Given the description of an element on the screen output the (x, y) to click on. 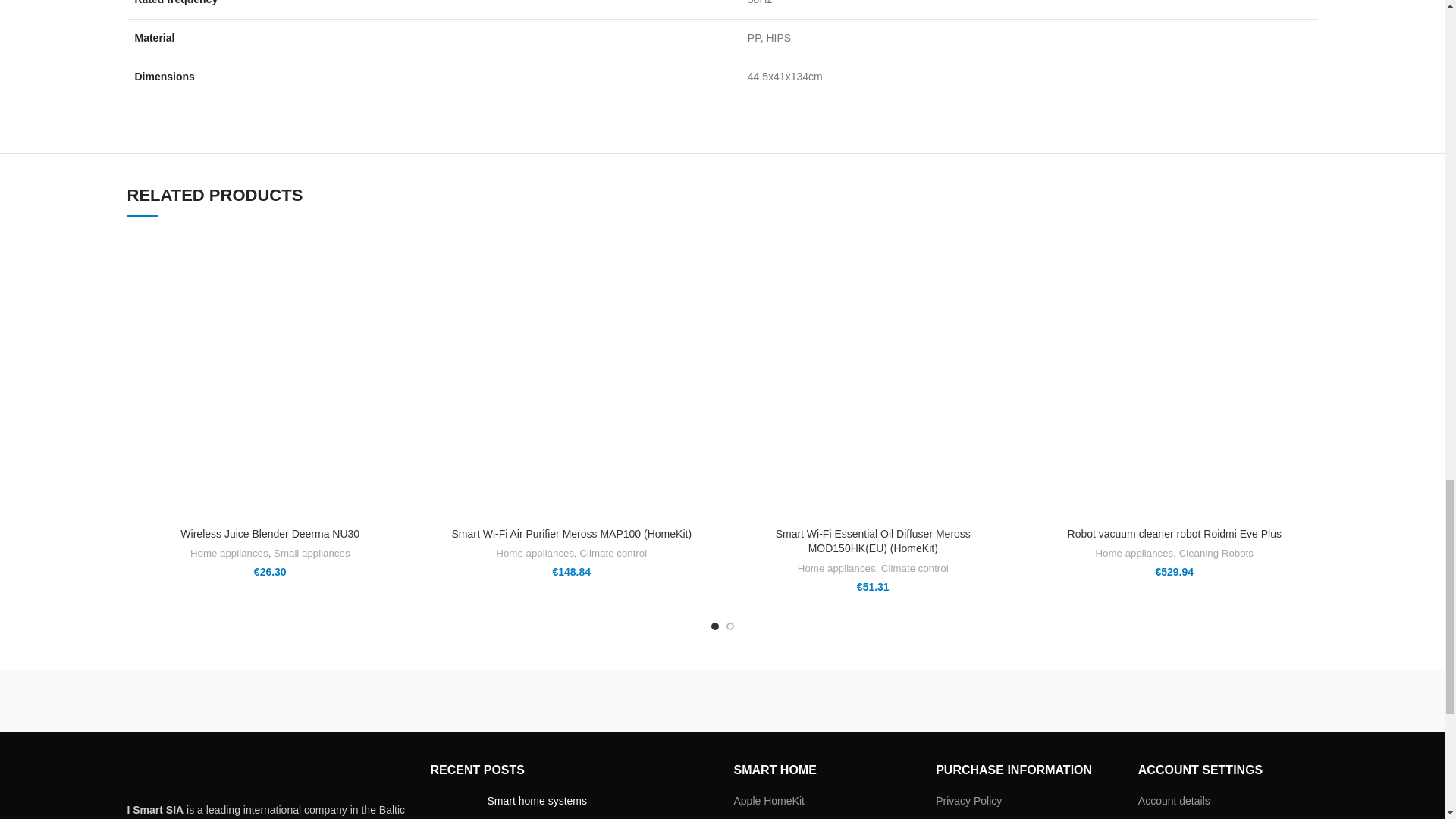
Xiaomi Mi home (210, 700)
